Given the description of an element on the screen output the (x, y) to click on. 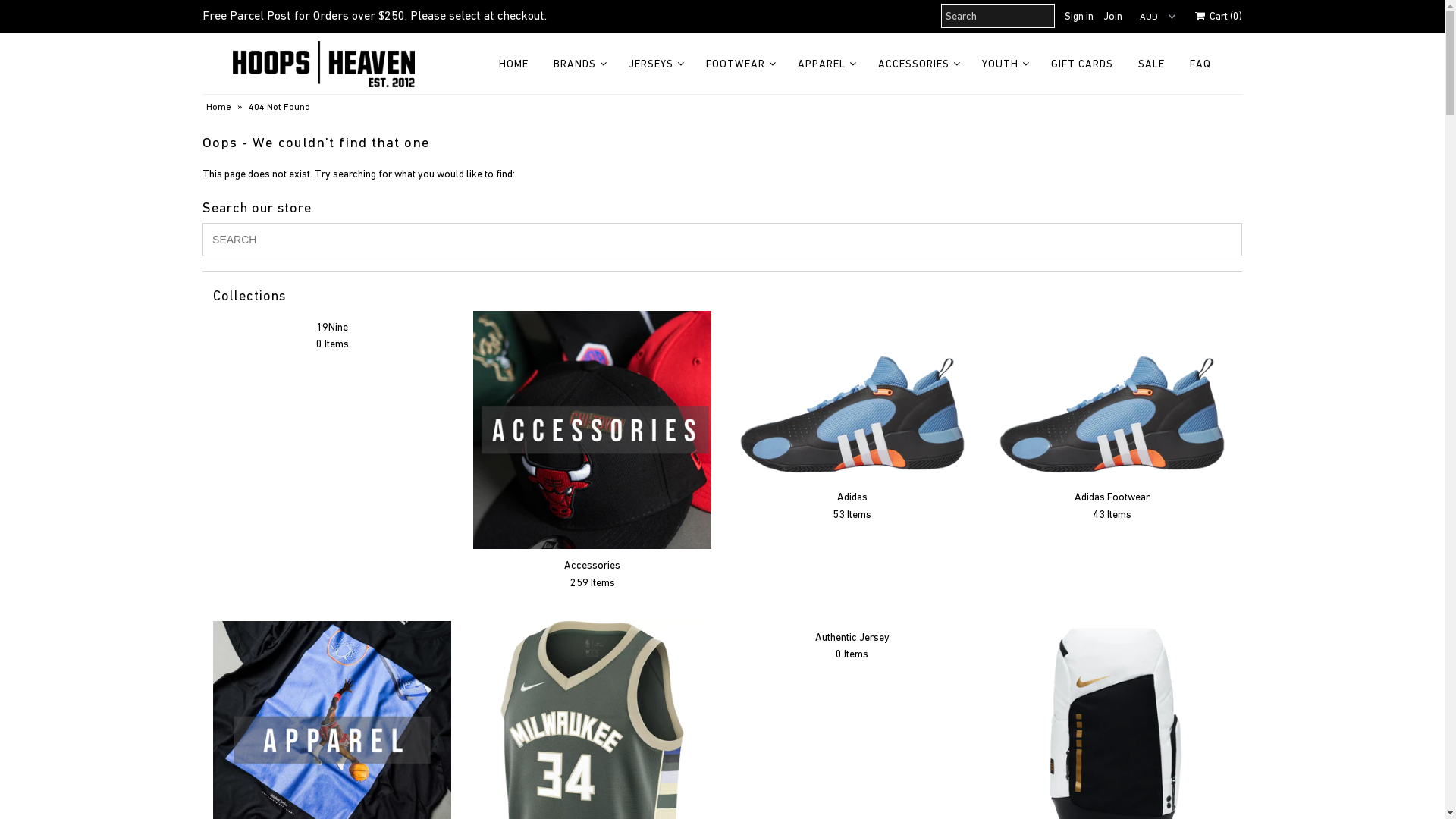
Join Element type: text (1112, 15)
Adidas Footwear
43 Items Element type: text (1111, 505)
APPAREL Element type: text (821, 63)
Adidas
53 Items Element type: text (852, 505)
Adidas Footwear Element type: hover (1111, 395)
ACCESSORIES Element type: text (913, 63)
HOME Element type: text (513, 63)
Home Element type: text (220, 106)
FAQ Element type: text (1200, 63)
Authentic Jersey
0 Items Element type: text (852, 645)
Adidas Element type: hover (852, 395)
YOUTH Element type: text (999, 63)
FOOTWEAR Element type: text (735, 63)
19Nine
0 Items Element type: text (332, 335)
Sign in Element type: text (1078, 15)
Accessories
259 Items Element type: text (592, 573)
SALE Element type: text (1151, 63)
BRANDS Element type: text (574, 63)
Accessories Element type: hover (592, 429)
GIFT CARDS Element type: text (1081, 63)
JERSEYS Element type: text (650, 63)
  Cart (0) Element type: text (1218, 15)
